Given the description of an element on the screen output the (x, y) to click on. 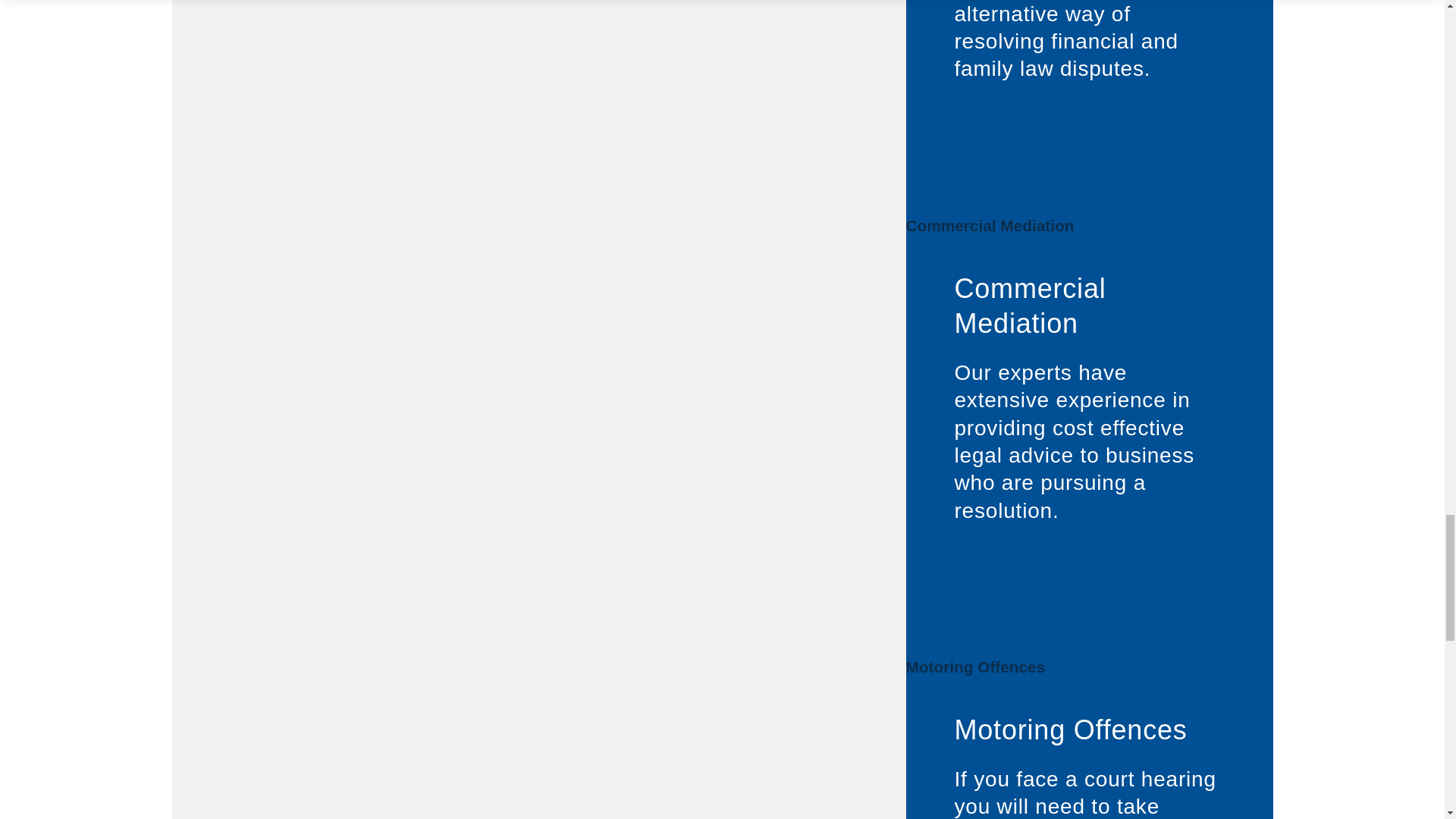
Motoring Offences (975, 666)
Motoring Offences (1069, 729)
Commercial Mediation (989, 225)
Commercial Mediation (1029, 305)
